Given the description of an element on the screen output the (x, y) to click on. 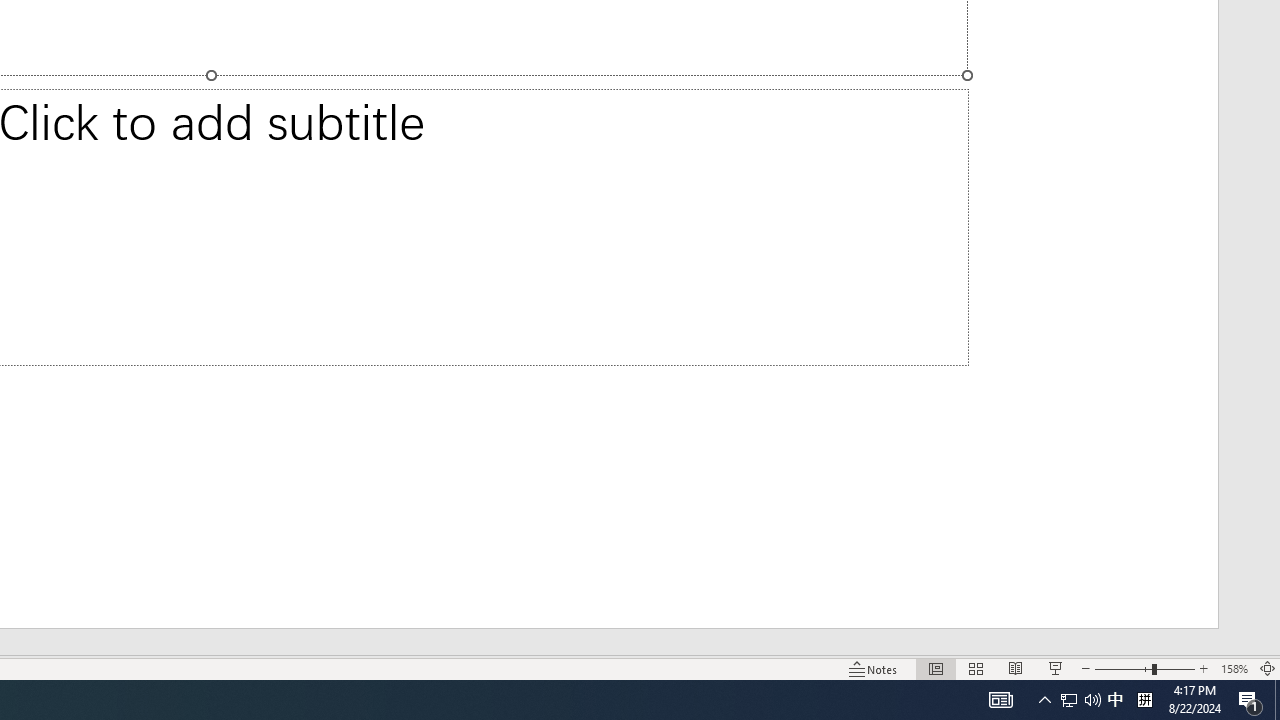
Notes  (874, 668)
Zoom (1144, 668)
Zoom Out (1123, 668)
Zoom In (1204, 668)
Normal (936, 668)
Reading View (1015, 668)
Zoom to Fit  (1267, 668)
Zoom 158% (1234, 668)
Slide Sorter (975, 668)
